Given the description of an element on the screen output the (x, y) to click on. 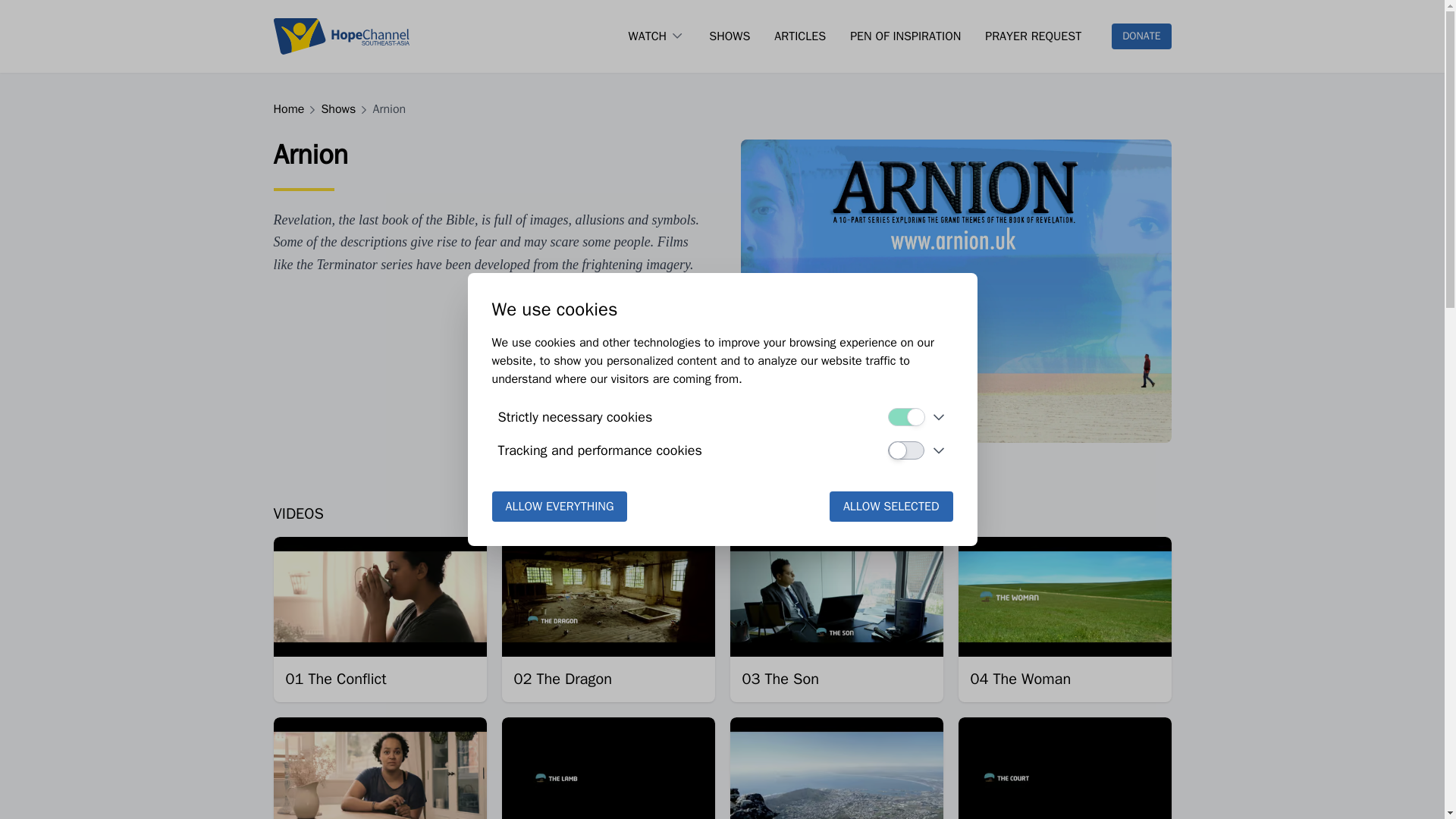
Hope Channel Southeast Asia (341, 36)
01 The Conflict (335, 678)
02 The Dragon (562, 678)
ARTICLES (799, 36)
WATCH (647, 36)
PRAYER REQUEST (1033, 36)
Shows (343, 109)
DONATE (1141, 36)
SHOWS (729, 36)
PEN OF INSPIRATION (905, 36)
04 The Woman (1021, 678)
03 The Son (779, 678)
Home (293, 109)
